Given the description of an element on the screen output the (x, y) to click on. 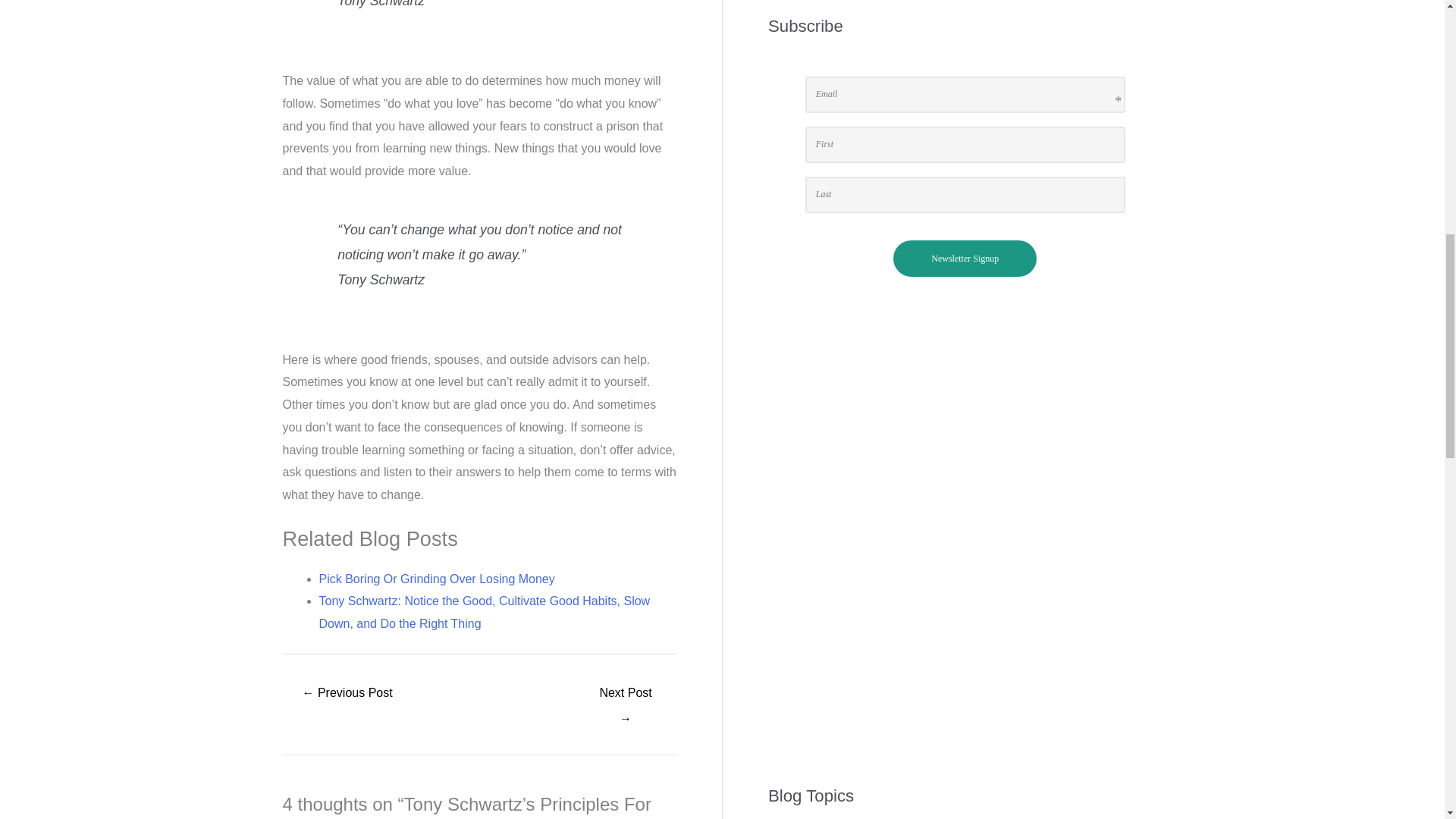
Narrative Rationality: Be Mindful Of Your Self-Description (346, 694)
Newsletter Signup (964, 258)
